Given the description of an element on the screen output the (x, y) to click on. 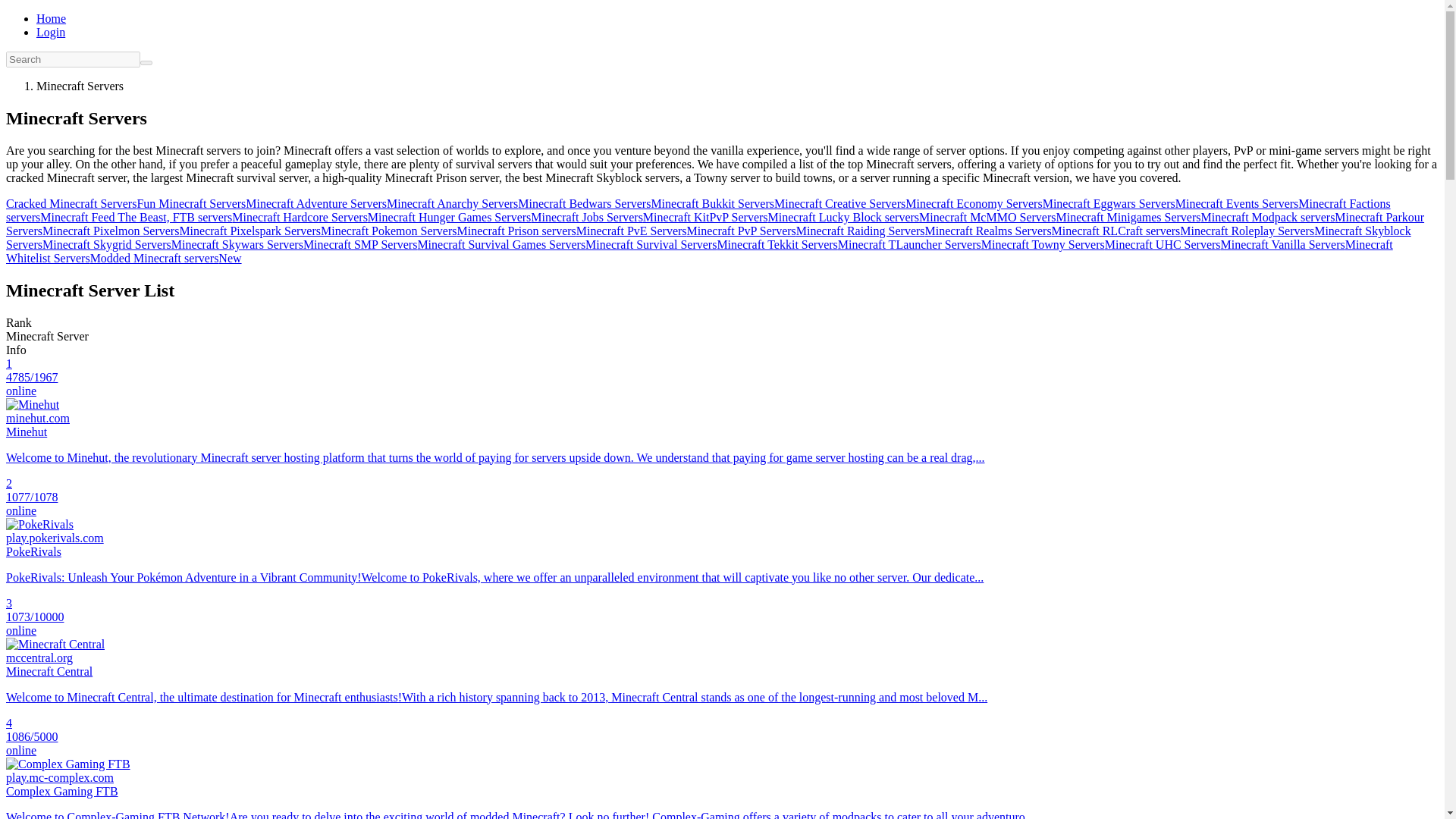
Fun Minecraft Servers (191, 203)
Minecraft Pokemon Servers (388, 230)
Minecraft Minigames Servers (1127, 216)
Minecraft Creative Servers (839, 203)
Minecraft Survival Games Servers (500, 244)
Cracked Minecraft Servers (70, 203)
Minecraft Realms Servers (987, 230)
Minecraft RLCraft servers (1115, 230)
Minecraft PvE Servers (631, 230)
Login (50, 31)
